Given the description of an element on the screen output the (x, y) to click on. 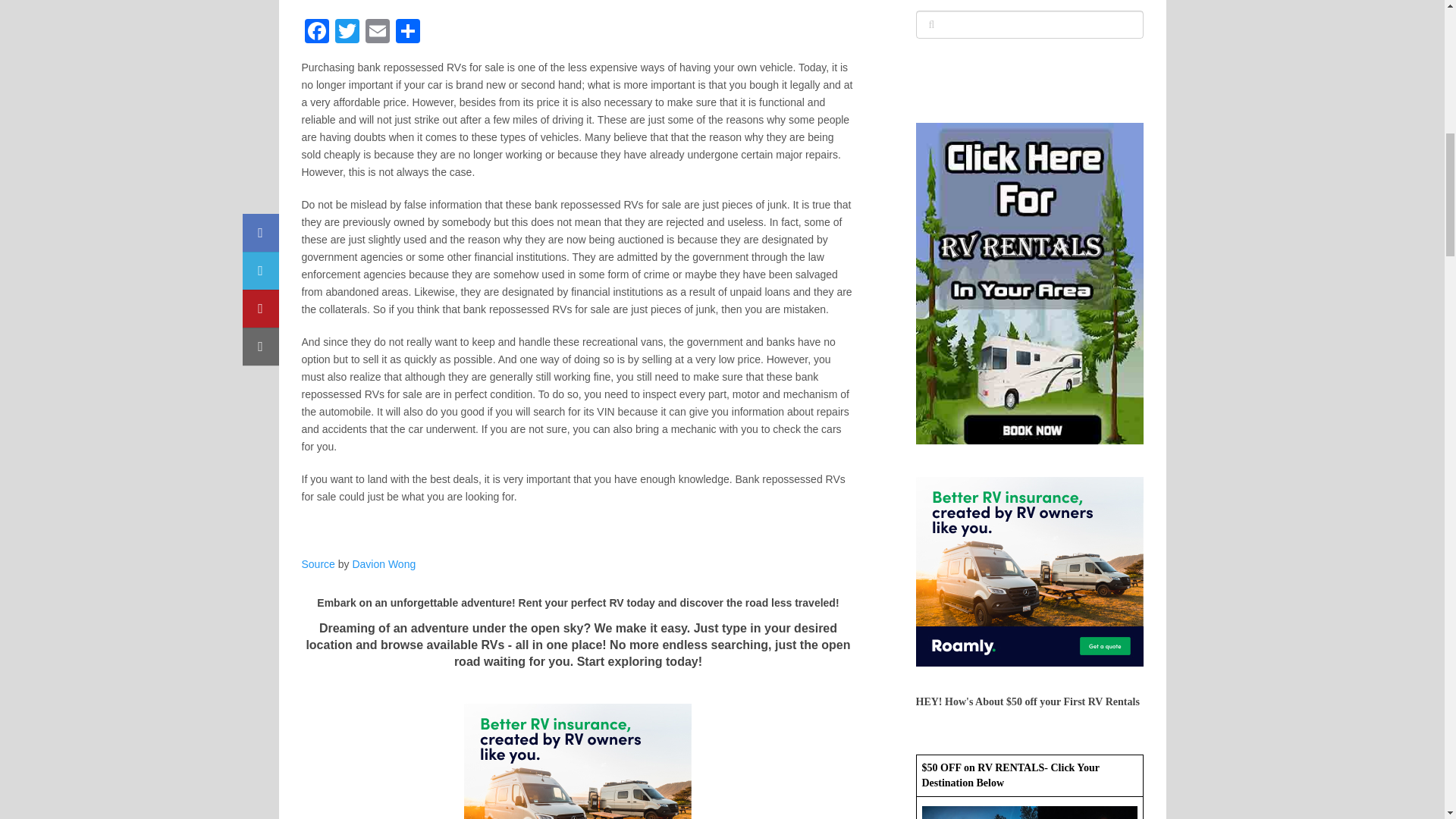
Email (377, 32)
Twitter (346, 32)
Facebook (316, 32)
Source (317, 563)
Twitter (346, 32)
Email (377, 32)
Davion Wong (383, 563)
Facebook (316, 32)
Share (408, 32)
